Given the description of an element on the screen output the (x, y) to click on. 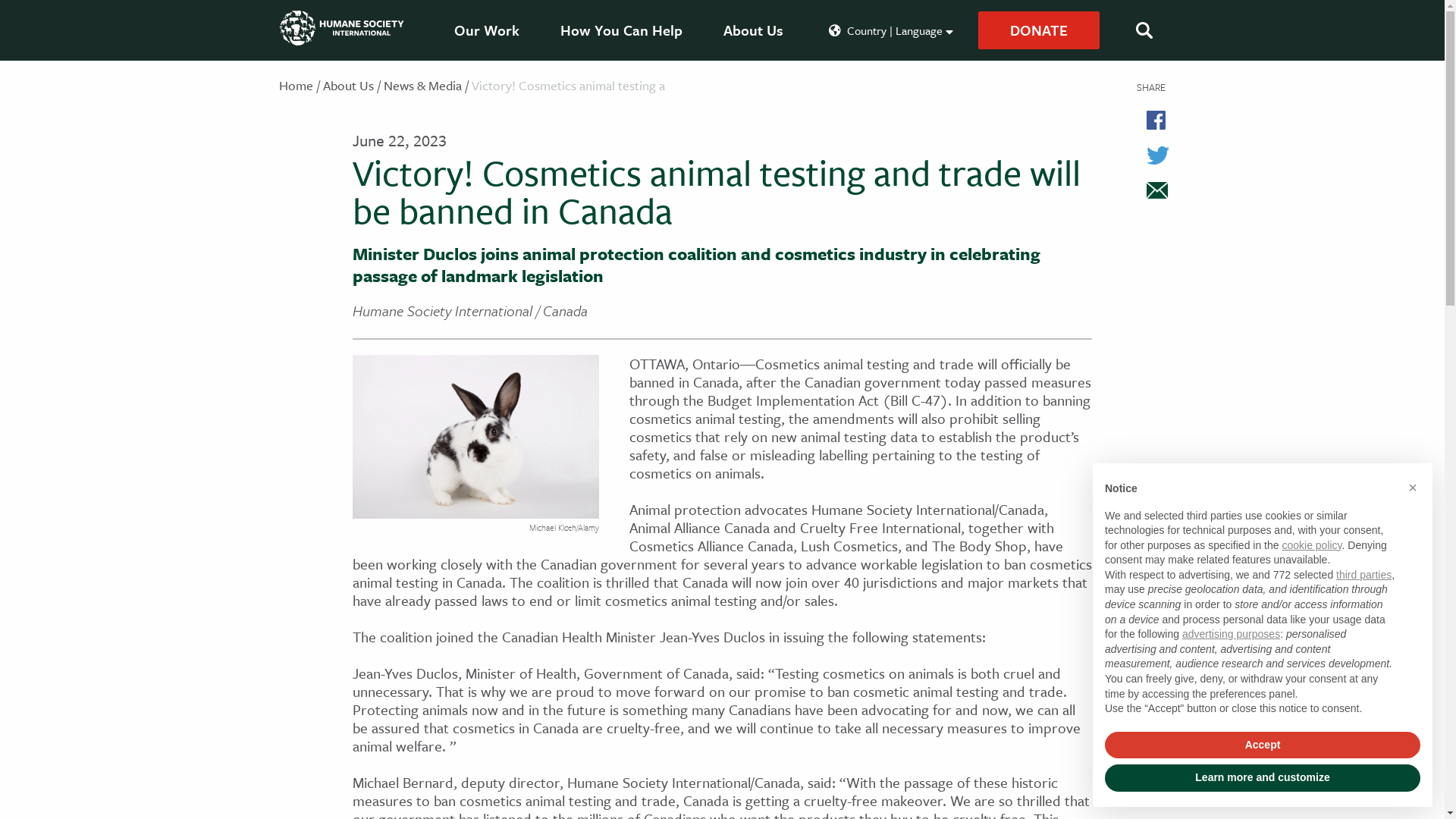
Home Element type: text (296, 84)
Accept Element type: text (1262, 745)
DONATE Element type: text (1038, 30)
Our Work Element type: text (486, 30)
third parties Element type: text (1363, 574)
advertising purposes Element type: text (1231, 633)
Click to share on Facebook (Opens in new window) Element type: text (1151, 120)
About Us Element type: text (348, 84)
cookie policy Element type: text (1311, 545)
About Us Element type: text (753, 30)
How You Can Help Element type: text (621, 30)
News & Media Element type: text (422, 84)
Click to share on Twitter (Opens in new window) Element type: text (1151, 155)
Click to email a link to a friend (Opens in new window) Element type: text (1151, 189)
Learn more and customize Element type: text (1262, 777)
